Given the description of an element on the screen output the (x, y) to click on. 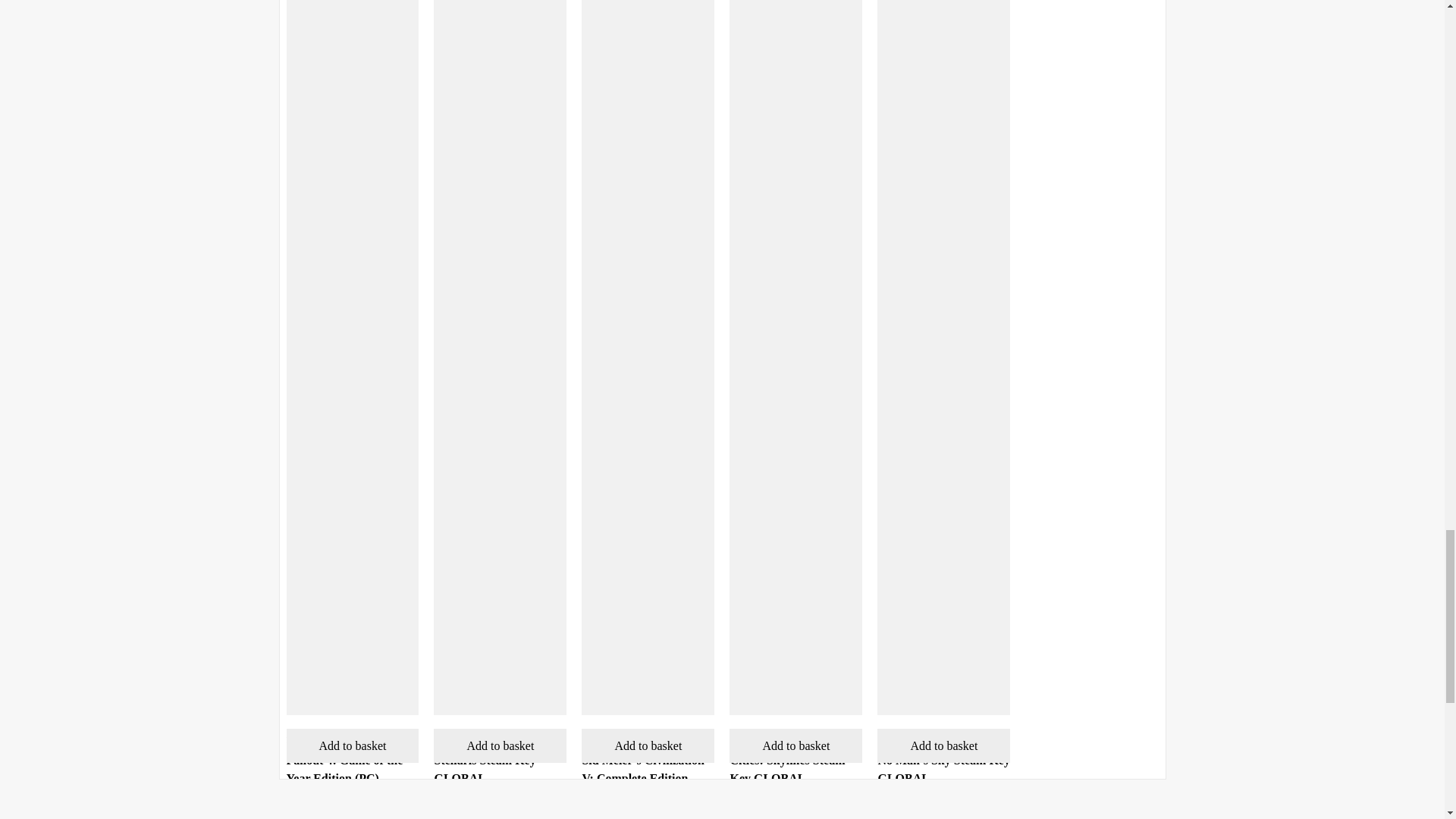
Add to basket (352, 745)
RPG (295, 739)
Add to basket (499, 745)
Stellaris Steam Key GLOBAL (484, 768)
Add to basket (647, 745)
ECONOMY (603, 739)
SIMULATION (461, 739)
